Given the description of an element on the screen output the (x, y) to click on. 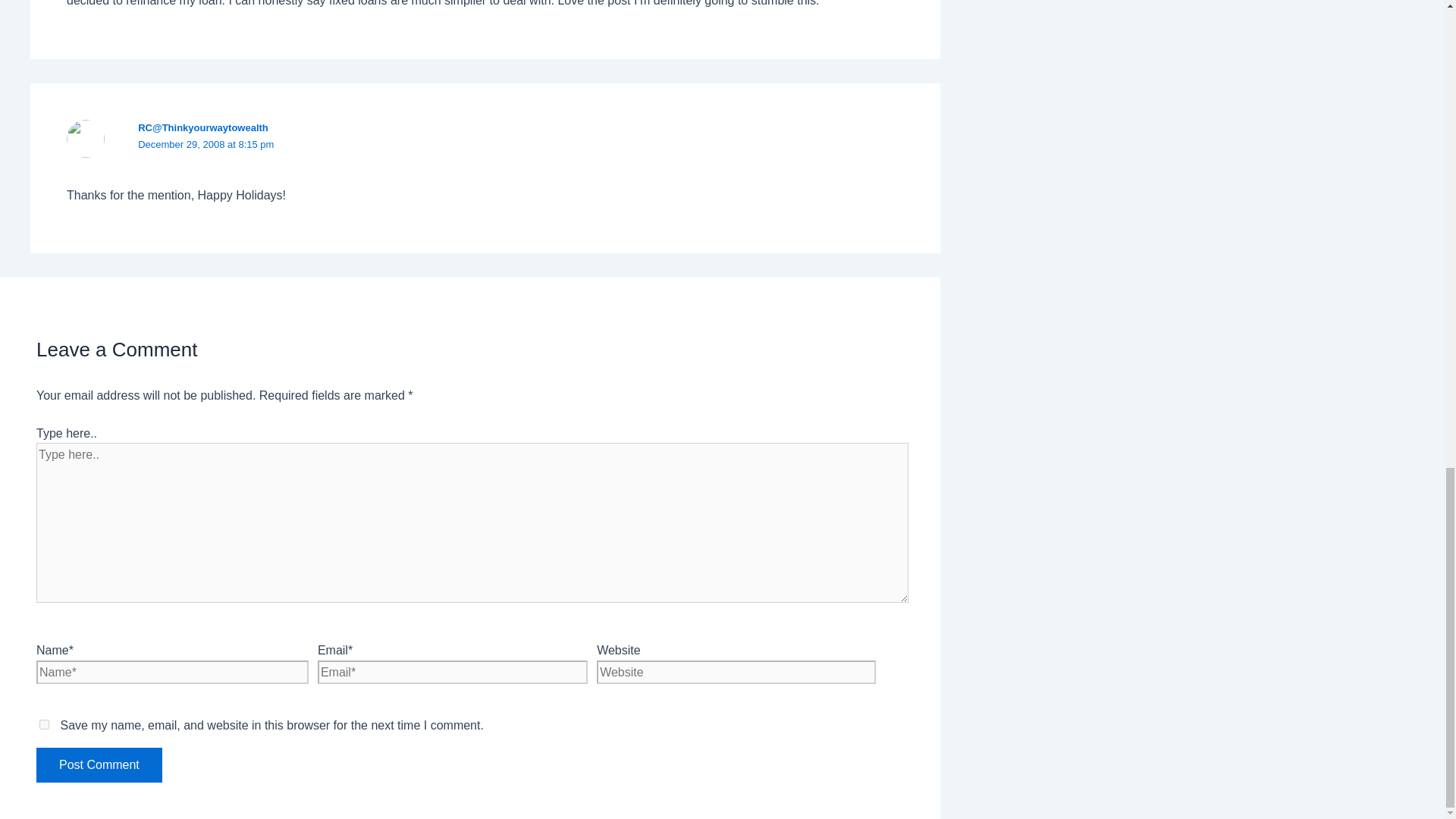
yes (44, 724)
Post Comment (98, 764)
Post Comment (98, 764)
December 29, 2008 at 8:15 pm (205, 143)
